Given the description of an element on the screen output the (x, y) to click on. 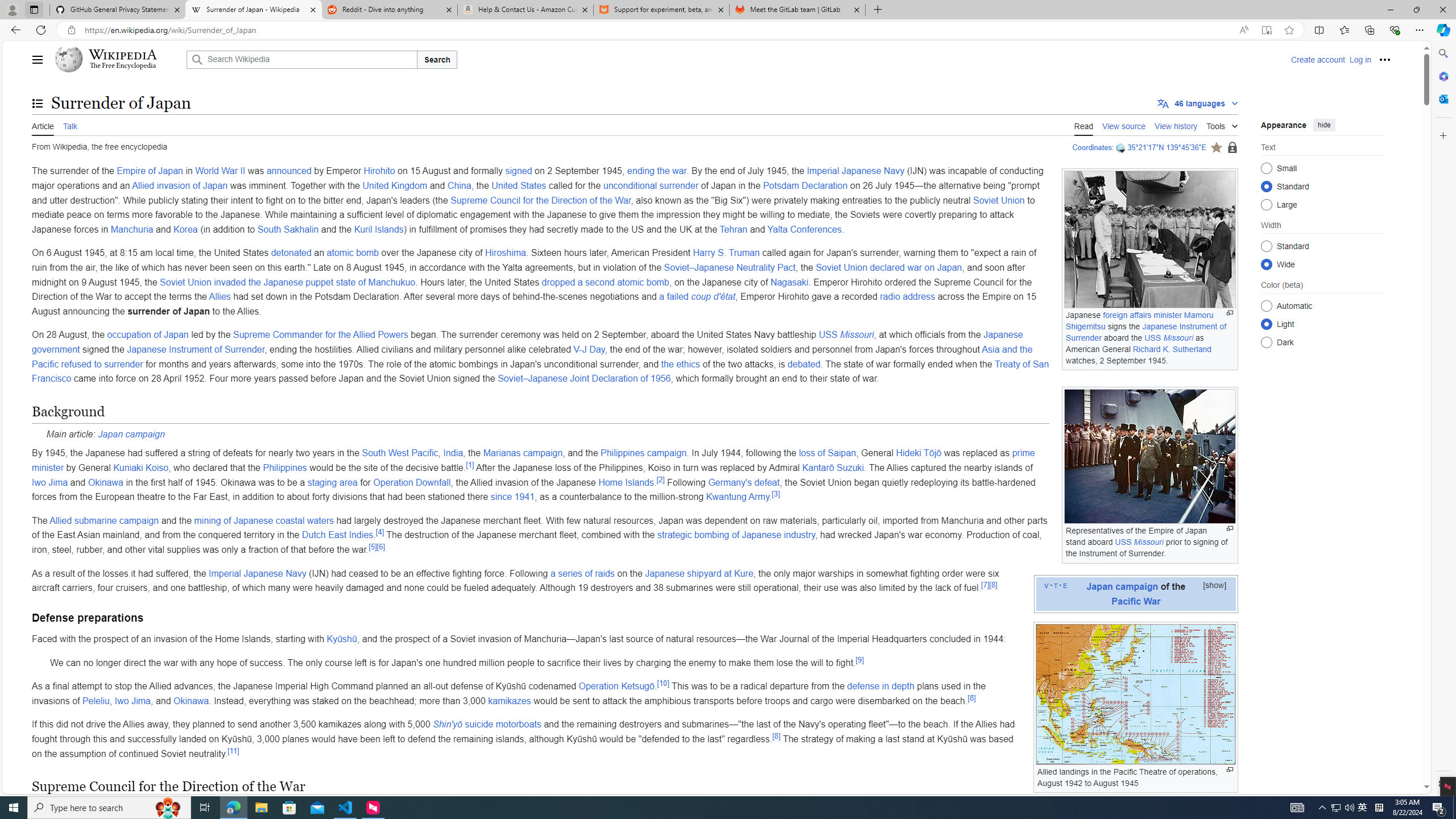
dropped a second atomic bomb (605, 281)
Soviet Union invaded the Japanese puppet state of Manchukuo (288, 281)
ending the war (655, 171)
strategic bombing of Japanese industry (735, 534)
Main menu (37, 59)
Asia and the Pacific (532, 356)
Treaty of San Francisco (540, 371)
Page semi-protected (1232, 147)
radio address (907, 296)
Create account (1317, 58)
signed (518, 171)
[3] (775, 492)
